Given the description of an element on the screen output the (x, y) to click on. 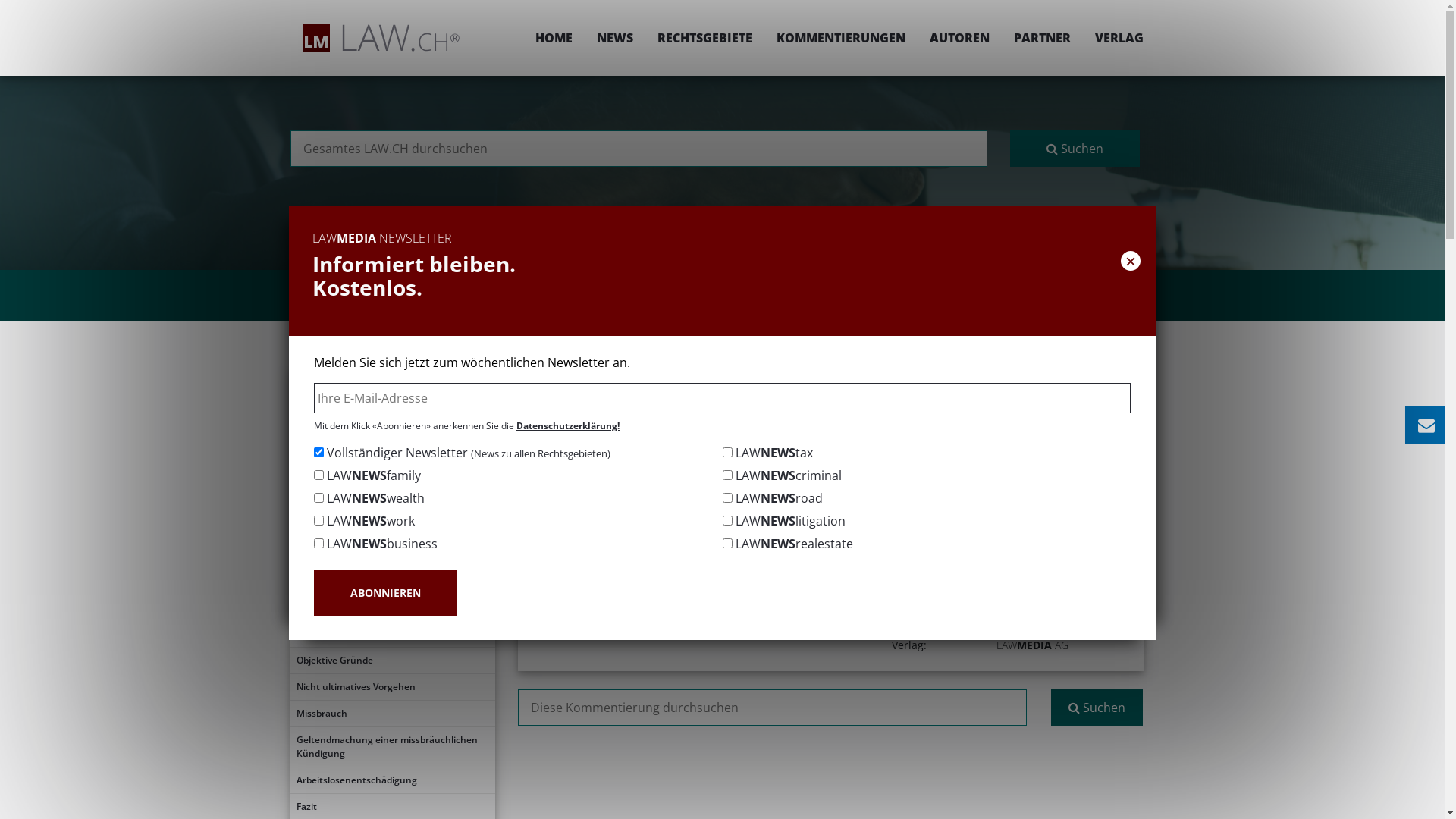
Home Element type: text (628, 375)
Suchen nach: Element type: hover (771, 707)
Nicht ultimatives Vorgehen Element type: text (391, 686)
Gesetzliche Grundlage Element type: text (391, 460)
 DRUCKEN / PDF Element type: text (1096, 426)
ABONNIEREN Element type: text (385, 592)
 TEILEN Element type: text (991, 426)
NEWS Element type: text (613, 37)
Missbrauch Element type: text (391, 713)
PARTNER Element type: text (1041, 37)
Rechtsgebiete Element type: text (697, 375)
VERLAG Element type: text (1112, 37)
HOME Element type: text (553, 37)
AUTOREN Element type: text (959, 37)
Skip to content Element type: text (1443, 0)
KOMMENTIERUNGEN Element type: text (840, 37)
Inhaltsverzeichnis Element type: text (391, 407)
Suchen nach: Element type: hover (637, 148)
RECHTSGEBIETE Element type: text (703, 37)
Begriff Element type: text (391, 434)
